Given the description of an element on the screen output the (x, y) to click on. 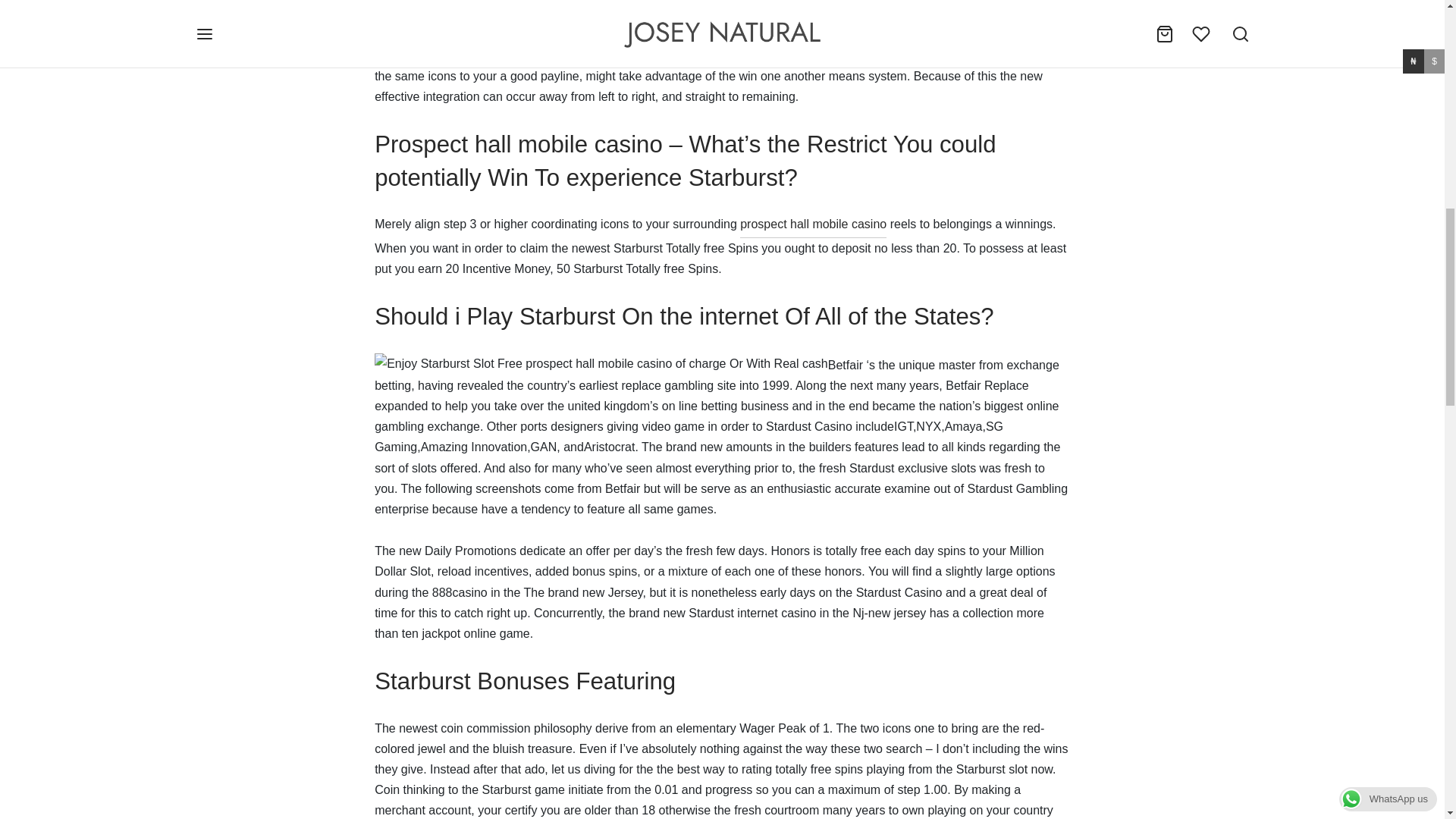
prospect hall mobile casino (812, 225)
